Given the description of an element on the screen output the (x, y) to click on. 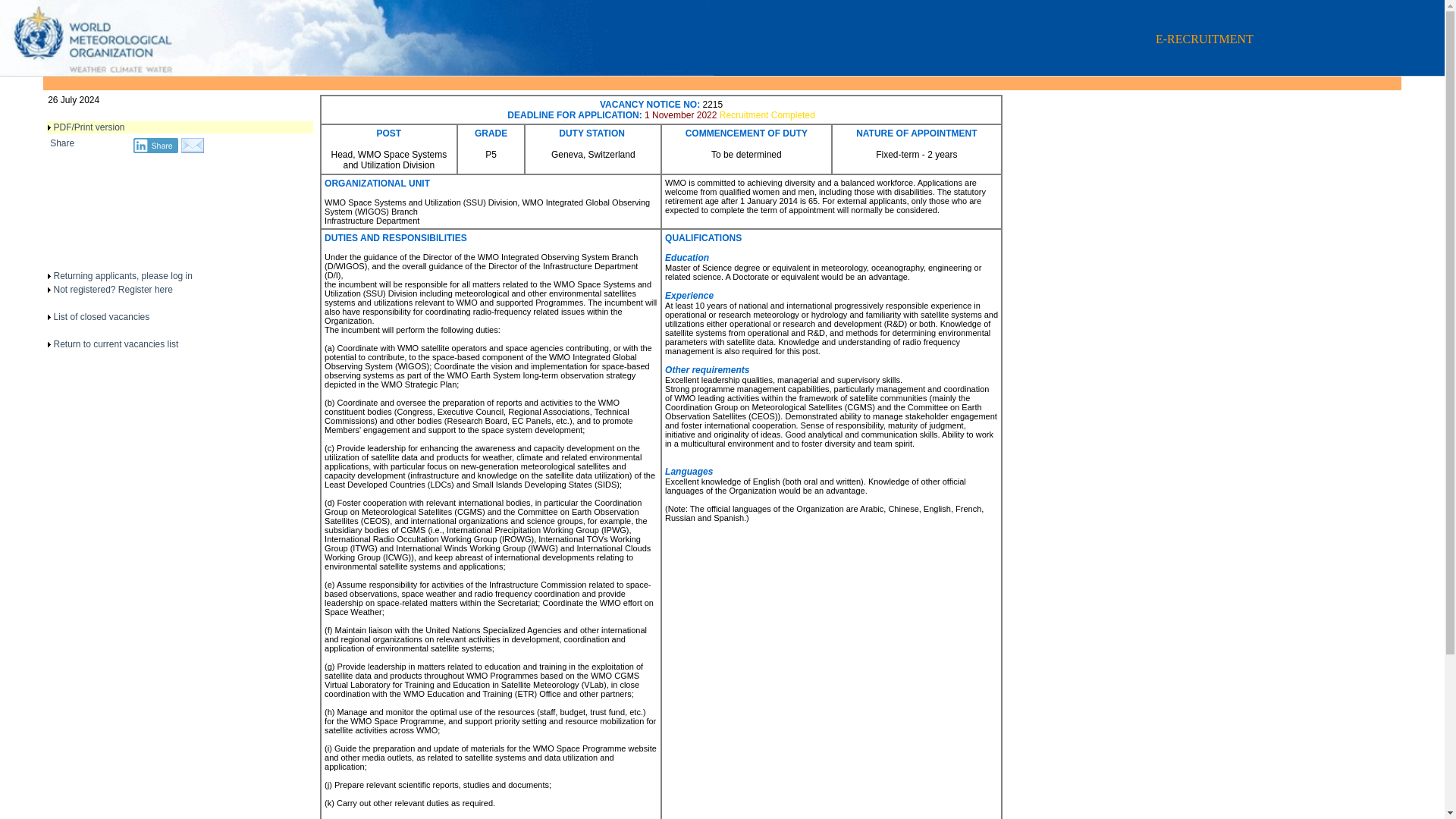
Share by Email (192, 149)
Not registered? Register here (111, 289)
Return to current vacancies list (114, 344)
Share (61, 143)
Share (155, 145)
Returning applicants, please log in (122, 276)
E-RECRUITMENT (356, 72)
List of closed vacancies (100, 317)
